Given the description of an element on the screen output the (x, y) to click on. 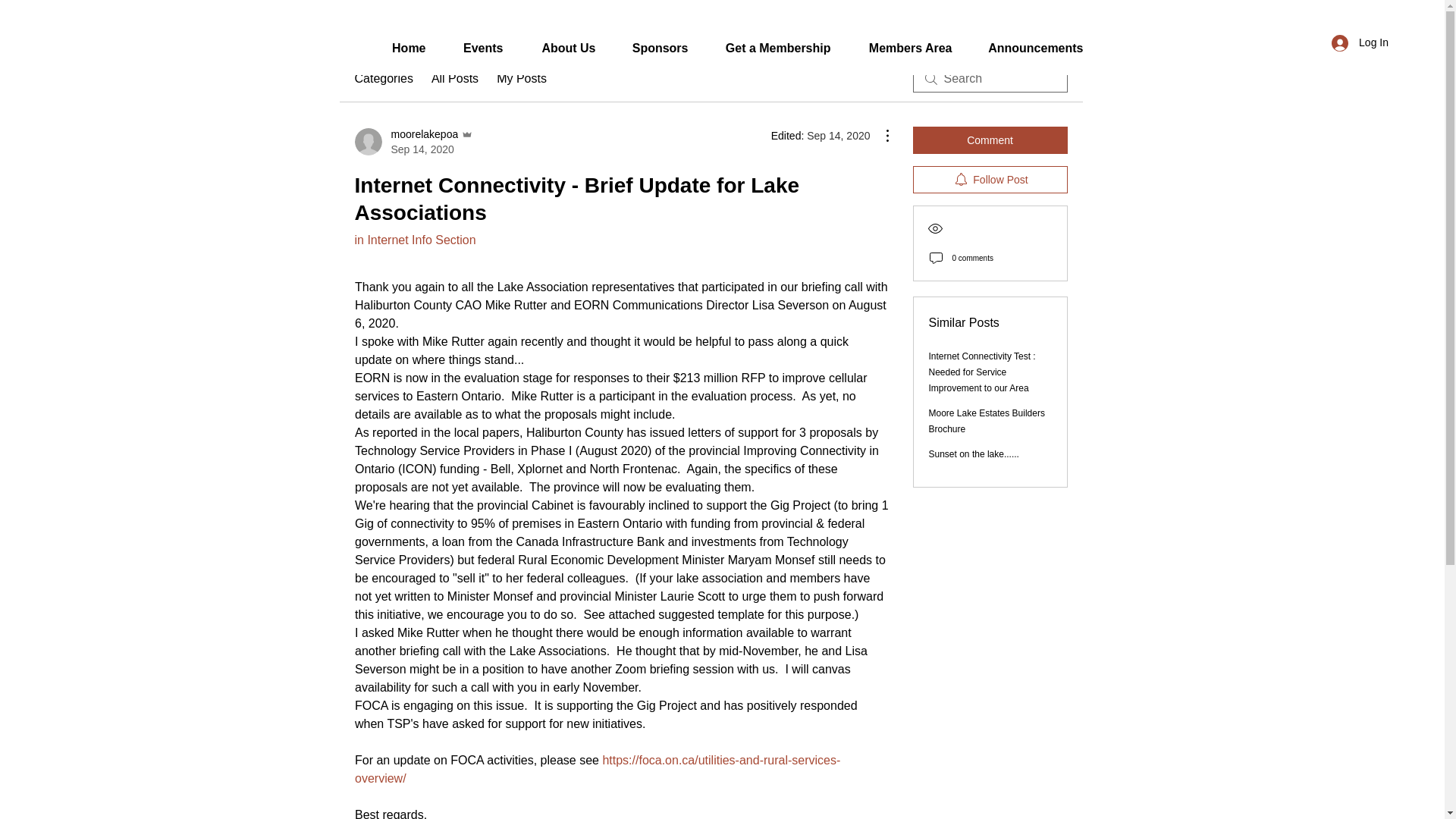
Moore Lake Estates Builders Brochure (985, 420)
All Posts (414, 141)
Categories (454, 78)
Log In (384, 78)
Home (1359, 42)
Announcements (394, 48)
Get a Membership (1024, 48)
Sunset on the lake...... (766, 48)
